Given the description of an element on the screen output the (x, y) to click on. 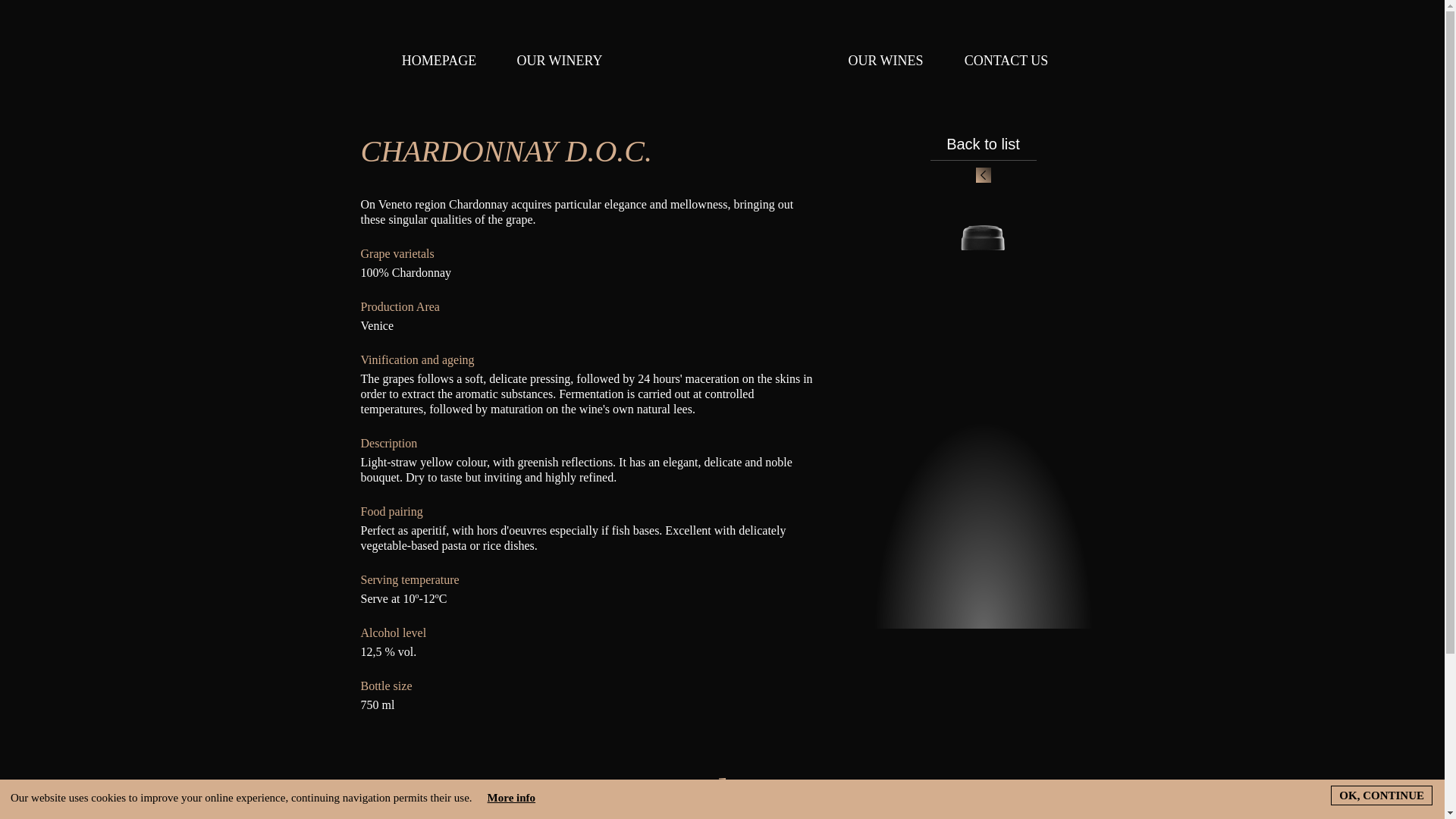
HOMEPAGE (438, 60)
Info request about this product (918, 815)
OK, CONTINUE (1381, 795)
FORM (1006, 90)
RED (884, 90)
CONTACT US (1005, 60)
OUR WINERY (559, 60)
OUR WINES (885, 60)
Back to list (982, 159)
Download technical sheet (527, 815)
More info (511, 797)
PROFILE (559, 90)
